Given the description of an element on the screen output the (x, y) to click on. 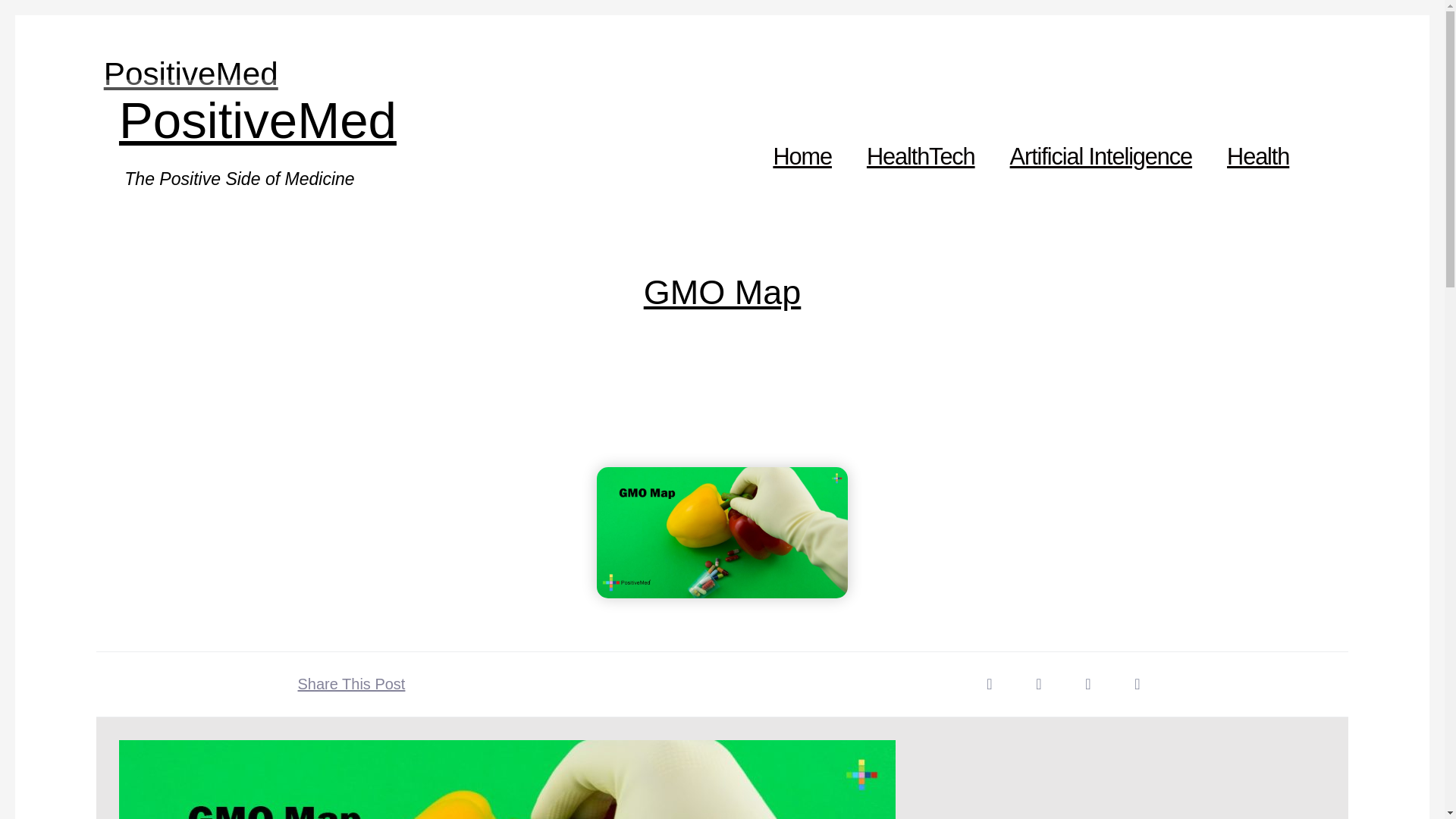
Home (802, 156)
Artificial Inteligence (1101, 156)
HealthTech (920, 156)
PositiveMed (190, 73)
Health (1258, 156)
